Given the description of an element on the screen output the (x, y) to click on. 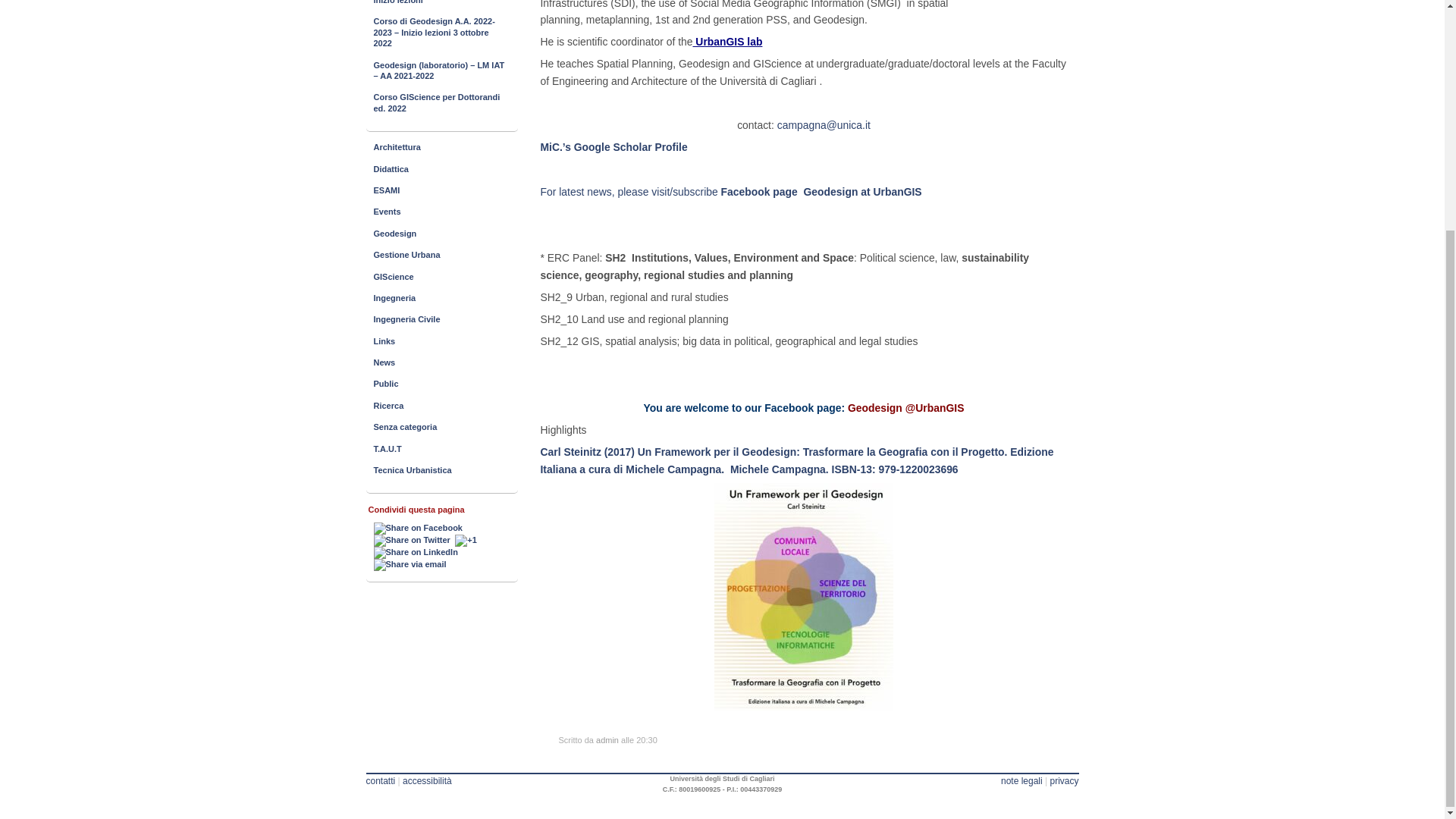
Share on Facebook (418, 528)
Corso GIScience per Dottorandi ed. 2022 (440, 102)
Links (440, 341)
admin (606, 739)
UrbanGIS lab (727, 41)
Gestione Urbana (440, 254)
Ingegneria (440, 298)
Share on Twitter (411, 540)
Share via email (410, 564)
Didattica (440, 168)
